Given the description of an element on the screen output the (x, y) to click on. 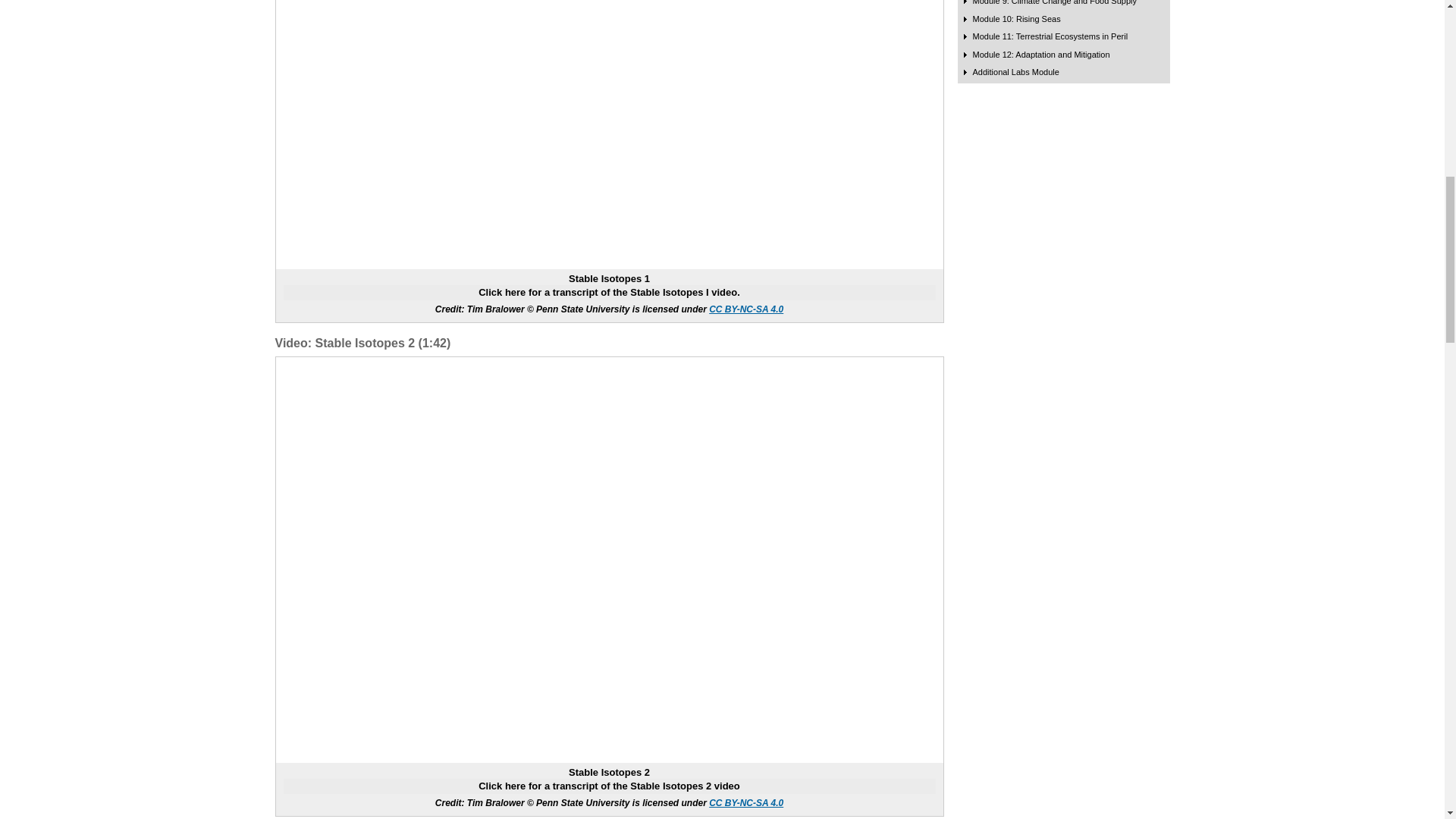
Module 9: Climate Change and Food Supply (1053, 2)
Module 10: Rising Seas (1015, 18)
Module 11: Terrestrial Ecosystems in Peril (1049, 35)
